Given the description of an element on the screen output the (x, y) to click on. 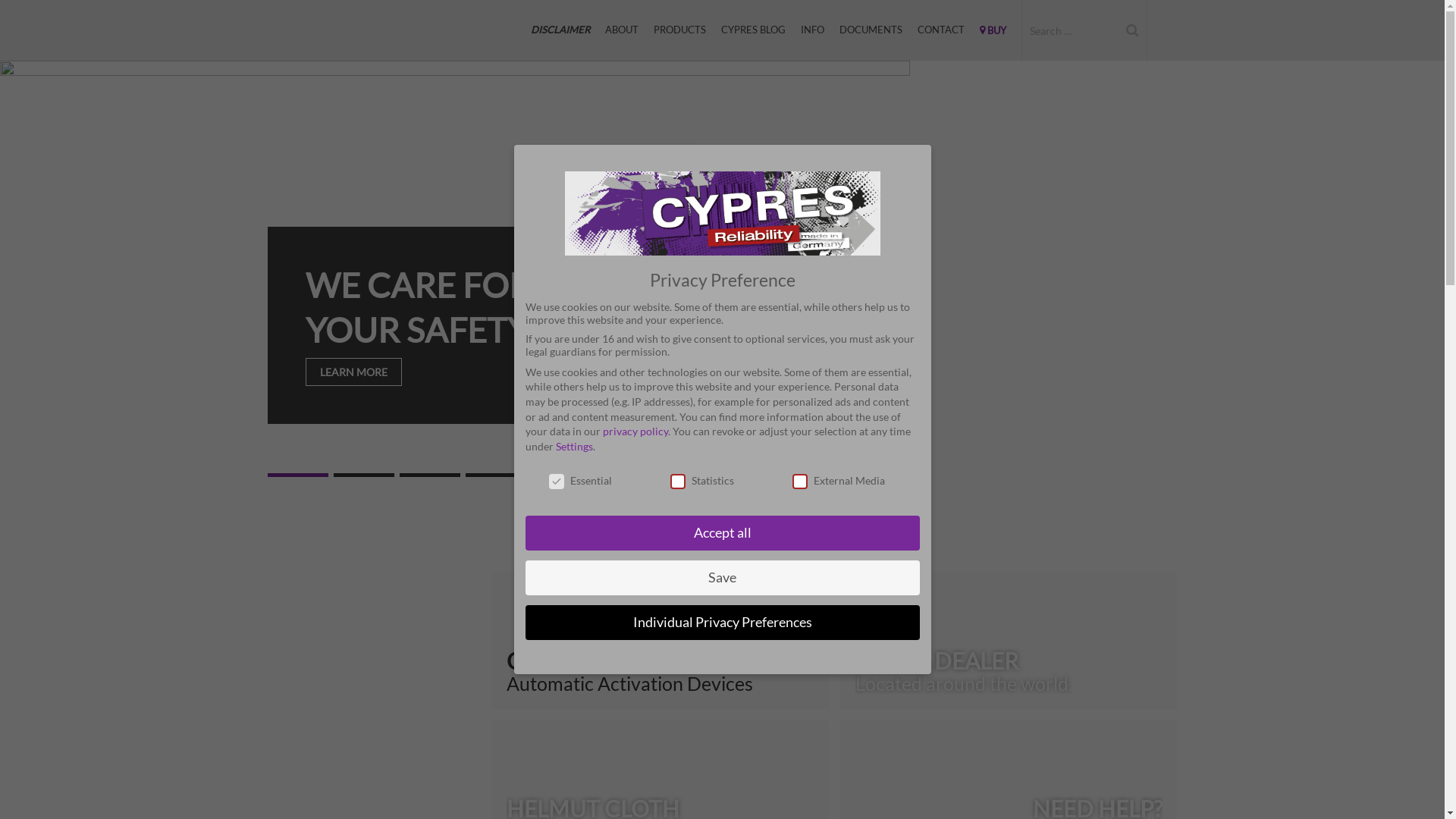
Slide 1 Element type: text (296, 474)
INFO Element type: text (812, 30)
Slide 5 Element type: text (560, 474)
CYPRES BLOG Element type: text (752, 30)
ABOUT Element type: text (621, 30)
Slide 4 Element type: text (495, 474)
Privacy Policy Element type: text (736, 654)
Cookie Details Element type: text (675, 654)
LEARN MORE Element type: text (352, 371)
Individual Privacy Preferences Element type: text (721, 622)
privacy policy Element type: text (634, 430)
Slide 2 Element type: text (363, 474)
Imprint Element type: text (783, 654)
BUY Element type: text (992, 30)
Search for: Element type: hover (1069, 30)
FIND A DEALER
Located around the world. Element type: text (1008, 640)
Settings Element type: text (573, 445)
OUR PRODUCTS
Automatic Activation Devices Element type: text (659, 640)
Accept all Element type: text (721, 532)
CONTACT Element type: text (940, 30)
DOCUMENTS Element type: text (869, 30)
Save Element type: text (721, 577)
CYPRES Element type: text (342, 30)
PRODUCTS Element type: text (679, 30)
Slide 3 Element type: text (428, 474)
DISCLAIMER Element type: text (559, 30)
